Given the description of an element on the screen output the (x, y) to click on. 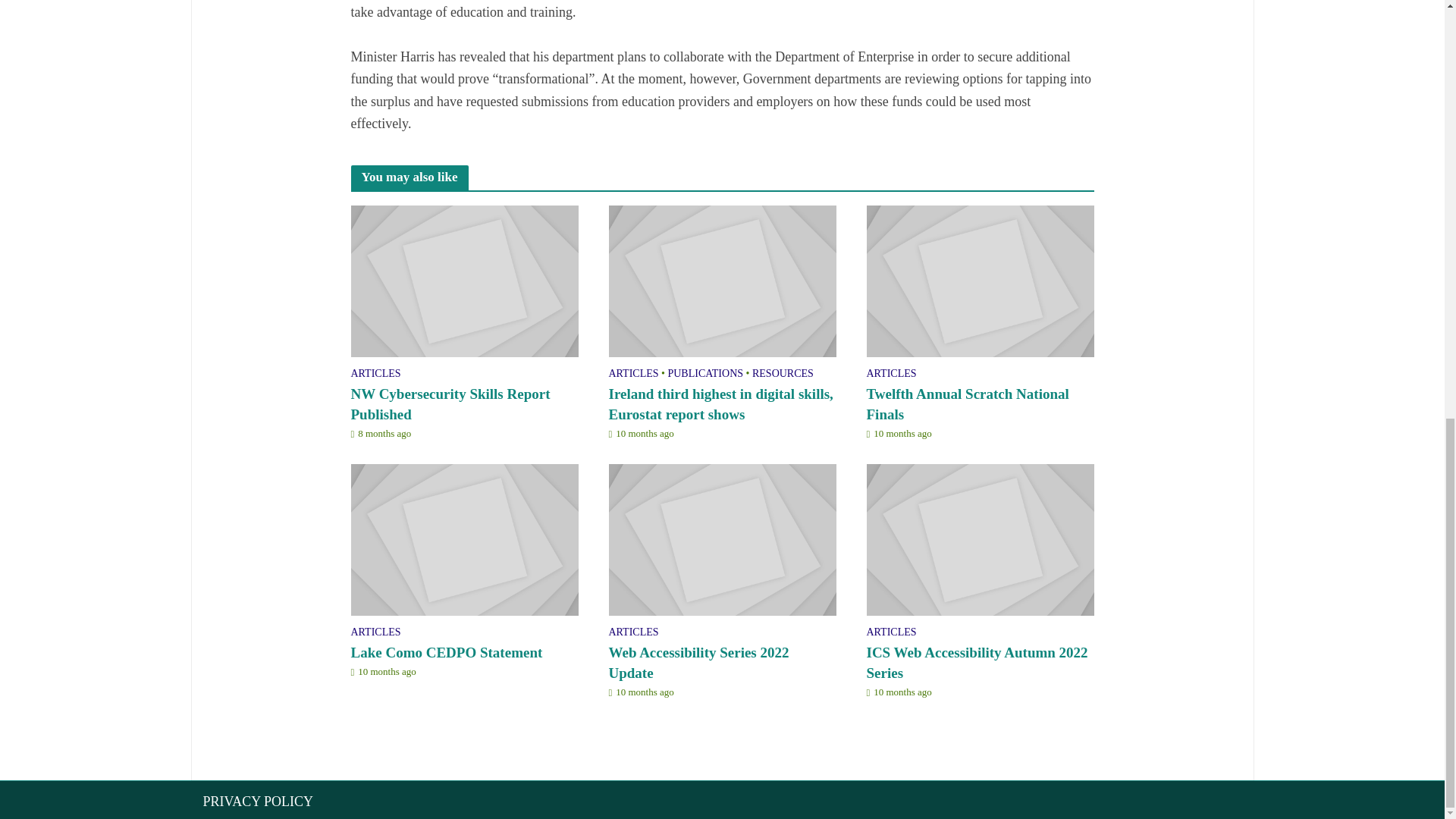
ARTICLES (633, 375)
Twelfth Annual Scratch National Finals (979, 280)
ICS Web Accessibility Autumn 2022 Series (979, 539)
ARTICLES (375, 375)
PUBLICATIONS (704, 375)
Web Accessibility Series 2022 Update (721, 539)
Lake Como CEDPO Statement (464, 539)
NW Cybersecurity Skills Report Published (464, 280)
NW Cybersecurity Skills Report Published (464, 404)
